Given the description of an element on the screen output the (x, y) to click on. 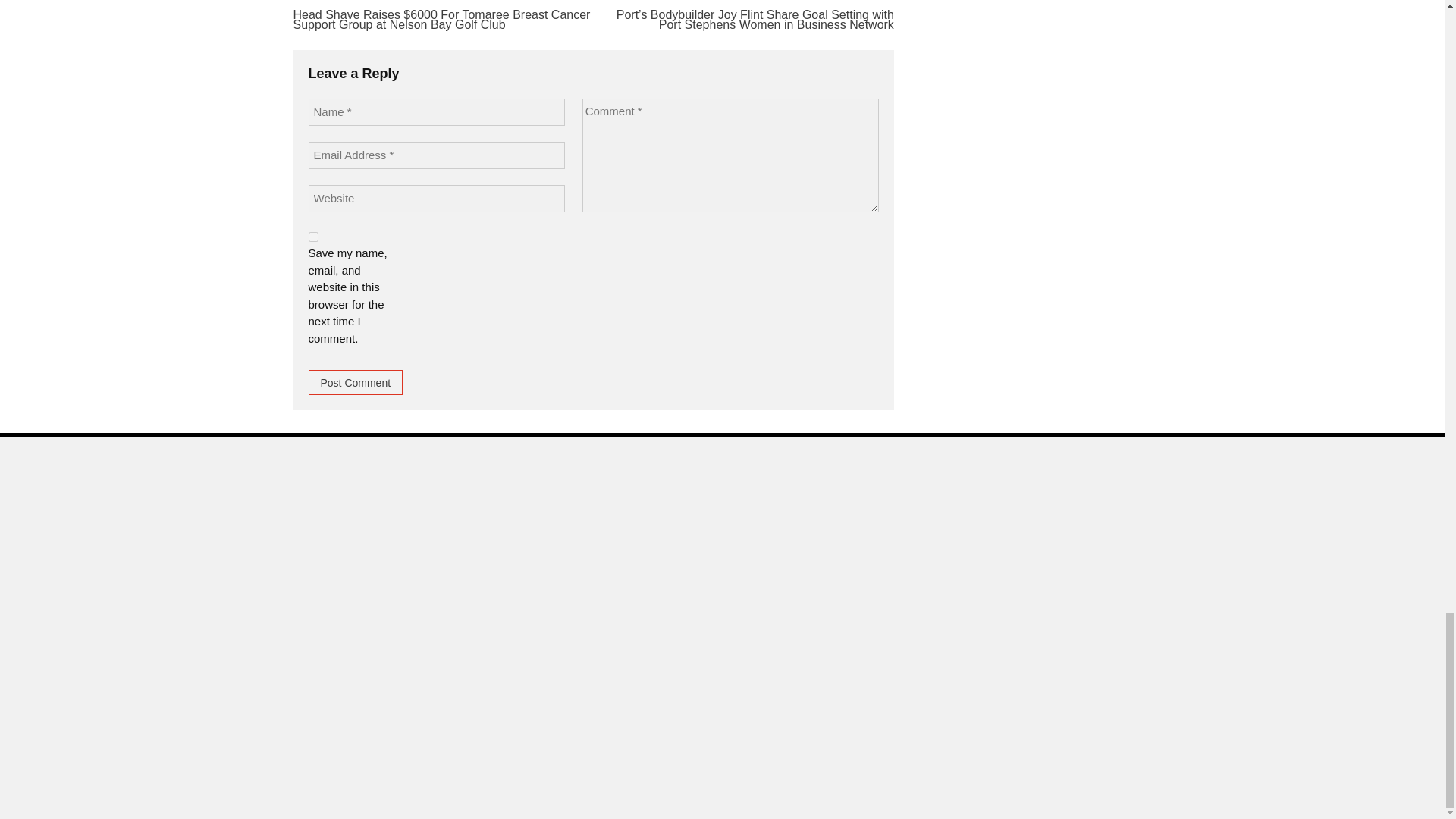
yes (312, 236)
Post Comment (355, 382)
